Given the description of an element on the screen output the (x, y) to click on. 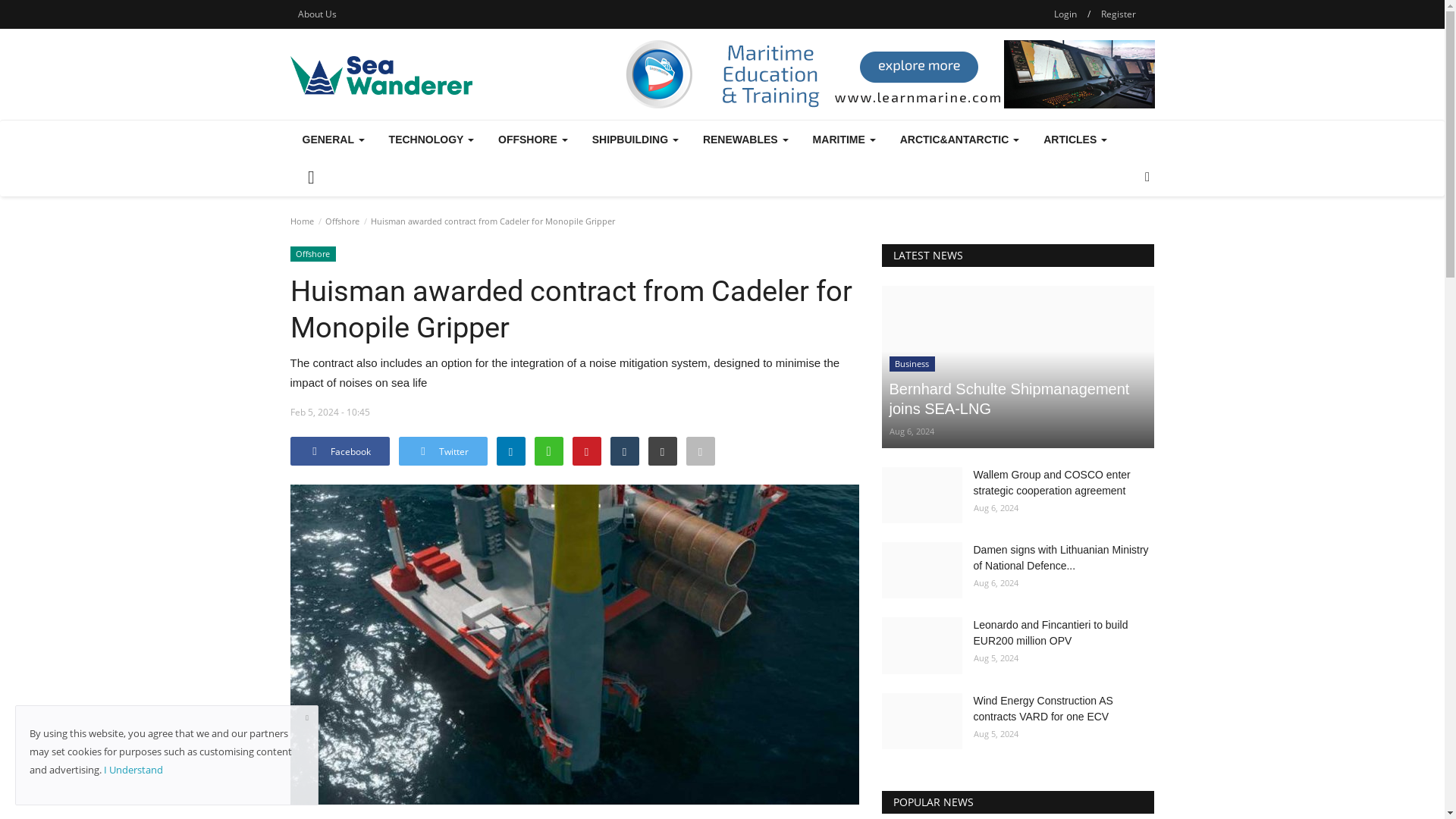
About Us (316, 14)
GENERAL (332, 139)
Login (1065, 14)
Register (1117, 14)
